Given the description of an element on the screen output the (x, y) to click on. 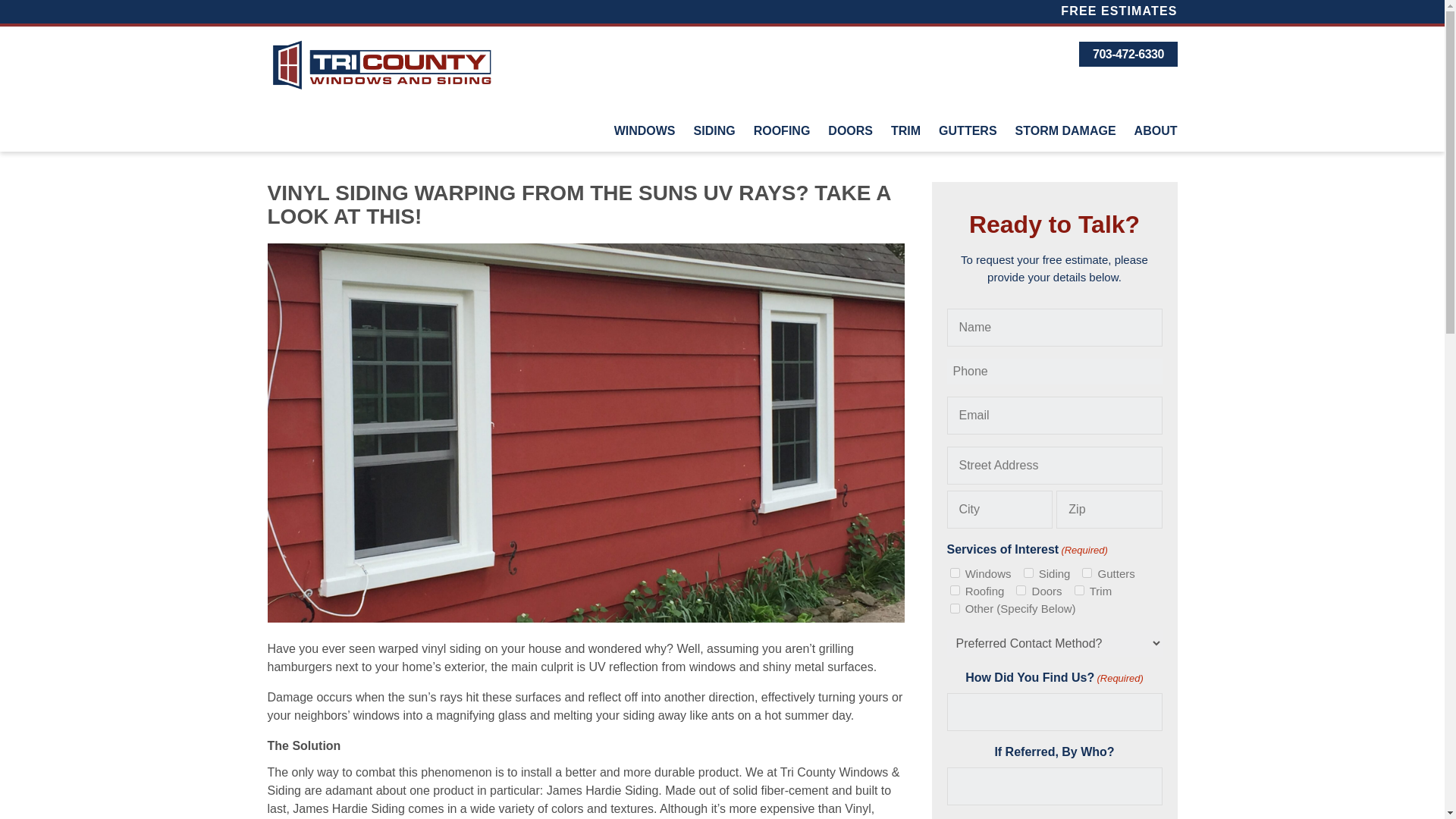
DOORS (850, 130)
Trim (1079, 590)
Siding (1028, 573)
Gutters (1086, 573)
Doors (1021, 590)
ROOFING (781, 130)
Tri County Windows and Siding (380, 65)
WINDOWS (644, 130)
SIDING (714, 130)
Windows (954, 573)
Tri County Windows and Siding (380, 65)
Roofing (954, 590)
FREE ESTIMATES (1114, 10)
